Given the description of an element on the screen output the (x, y) to click on. 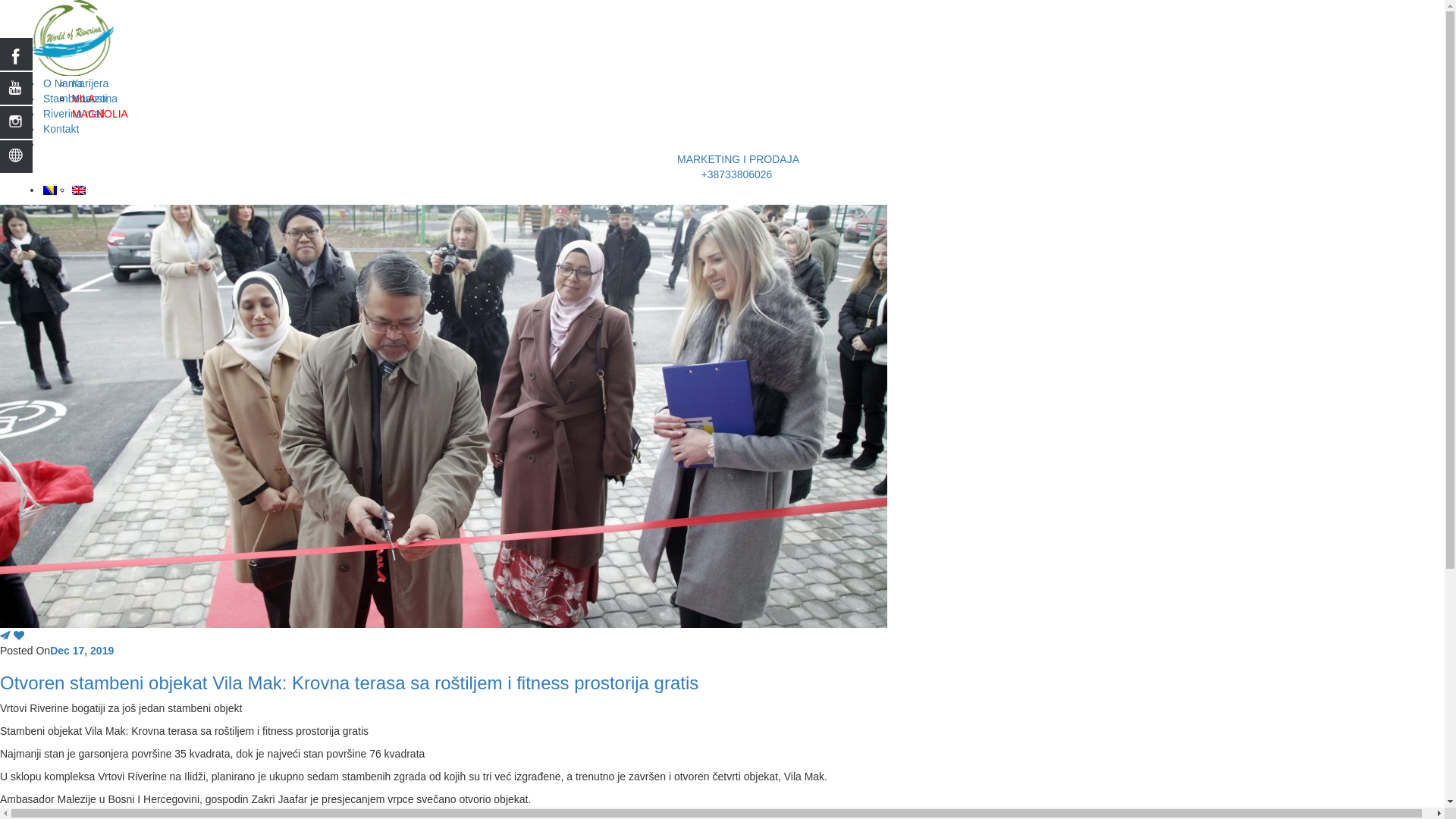
Kontakt Element type: text (60, 128)
<center>MARKETING I PRODAJA <br> +38733806026 Element type: hover (42, 143)
Vrtovi Riverine Element type: hover (73, 37)
VILA MAGNOLIA Element type: text (100, 105)
Dec 17, 2019 Element type: text (81, 650)
MARKETING I PRODAJA
+38733806026 Element type: text (737, 166)
Stambena zona Element type: text (80, 98)
O Nama Element type: text (62, 83)
Karijera Element type: text (90, 83)
Novosti Element type: text (89, 98)
Riverina mall Element type: text (73, 113)
